Given the description of an element on the screen output the (x, y) to click on. 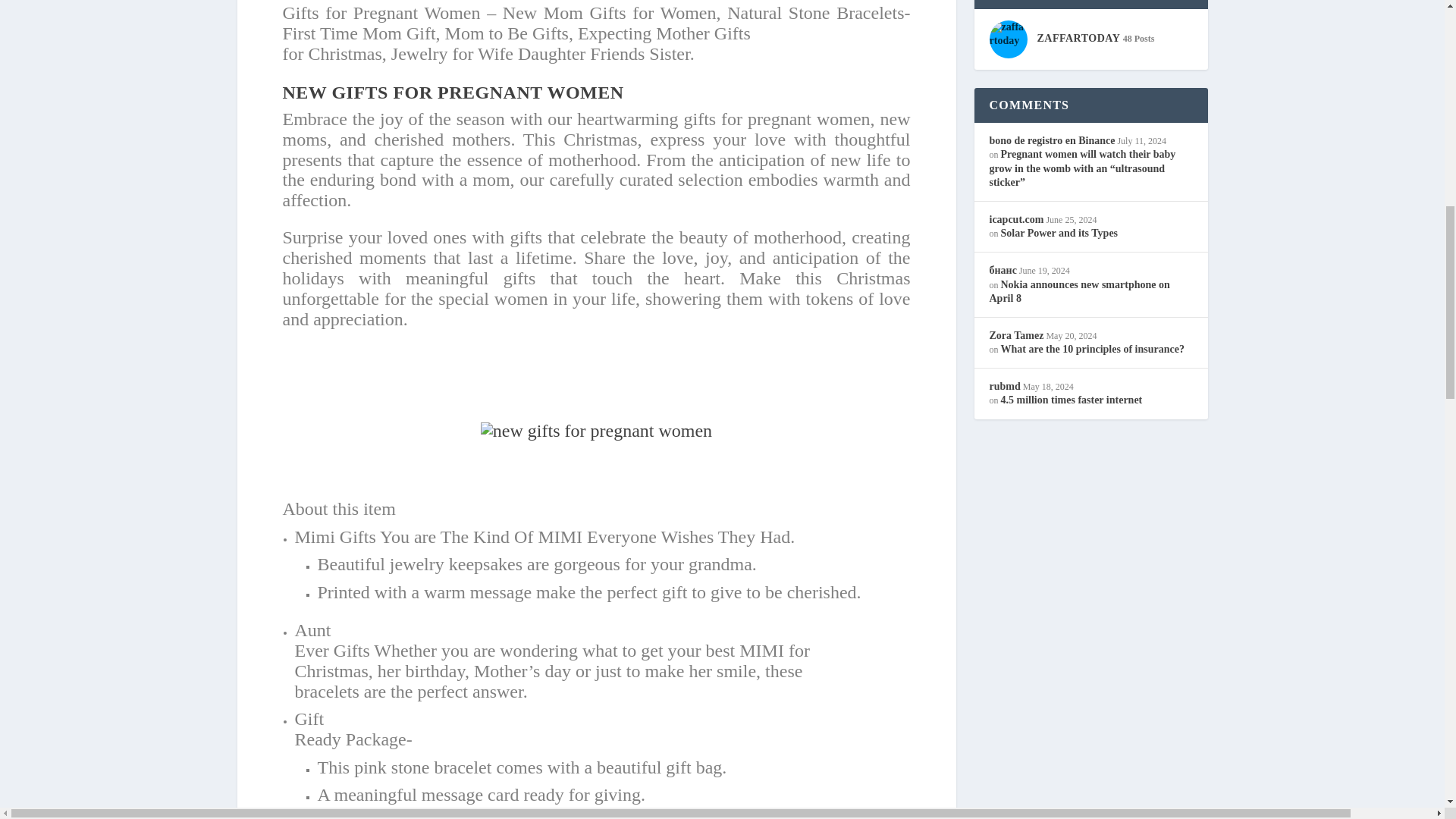
new gifts for pregnant women (595, 431)
